Given the description of an element on the screen output the (x, y) to click on. 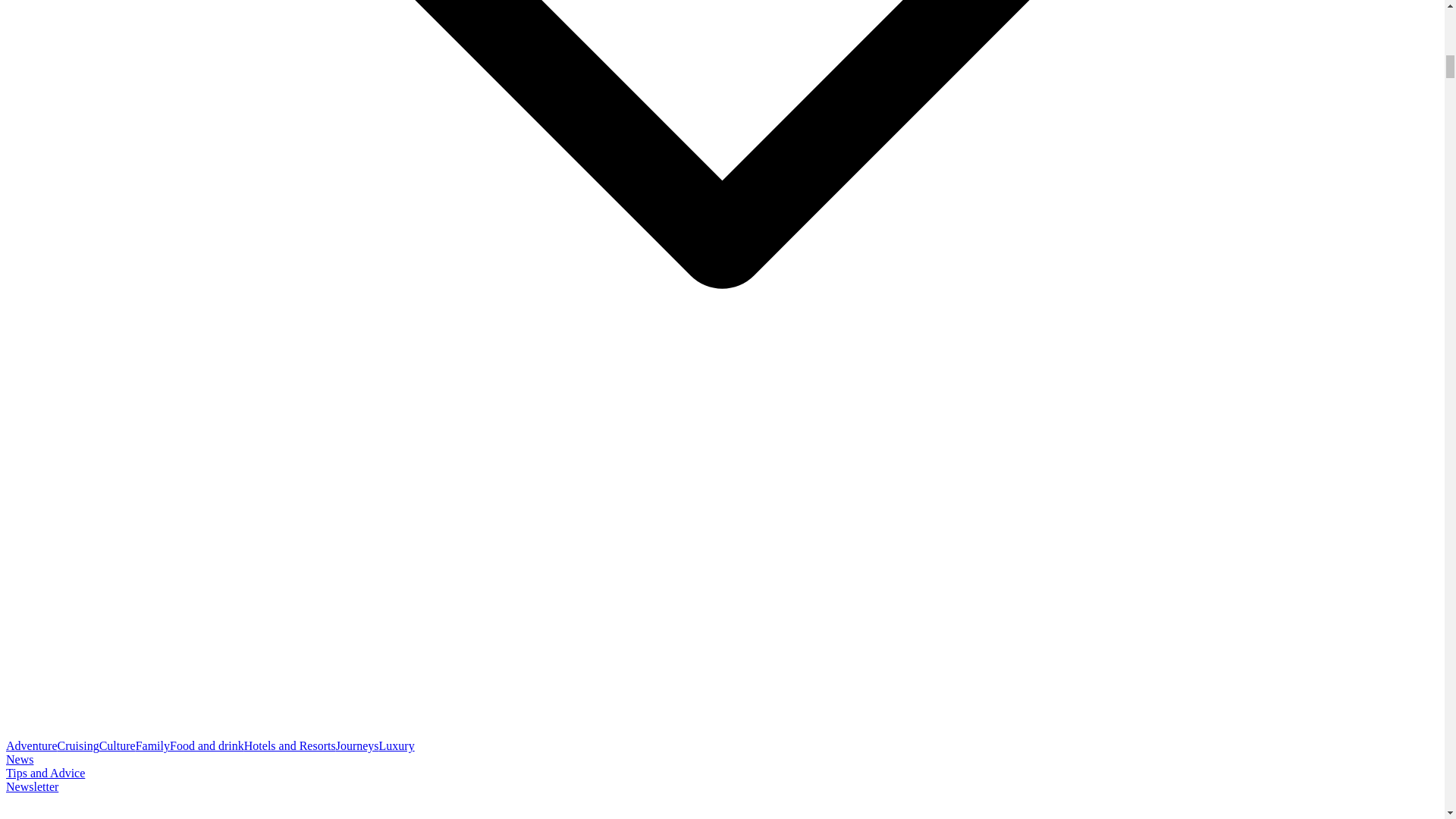
Food and drink (207, 745)
Newsletter (31, 786)
Hotels and Resorts (290, 745)
Culture (117, 745)
Journeys (357, 745)
Adventure (31, 745)
Cruising (78, 745)
Tips and Advice (44, 772)
News (19, 758)
Family (152, 745)
